Given the description of an element on the screen output the (x, y) to click on. 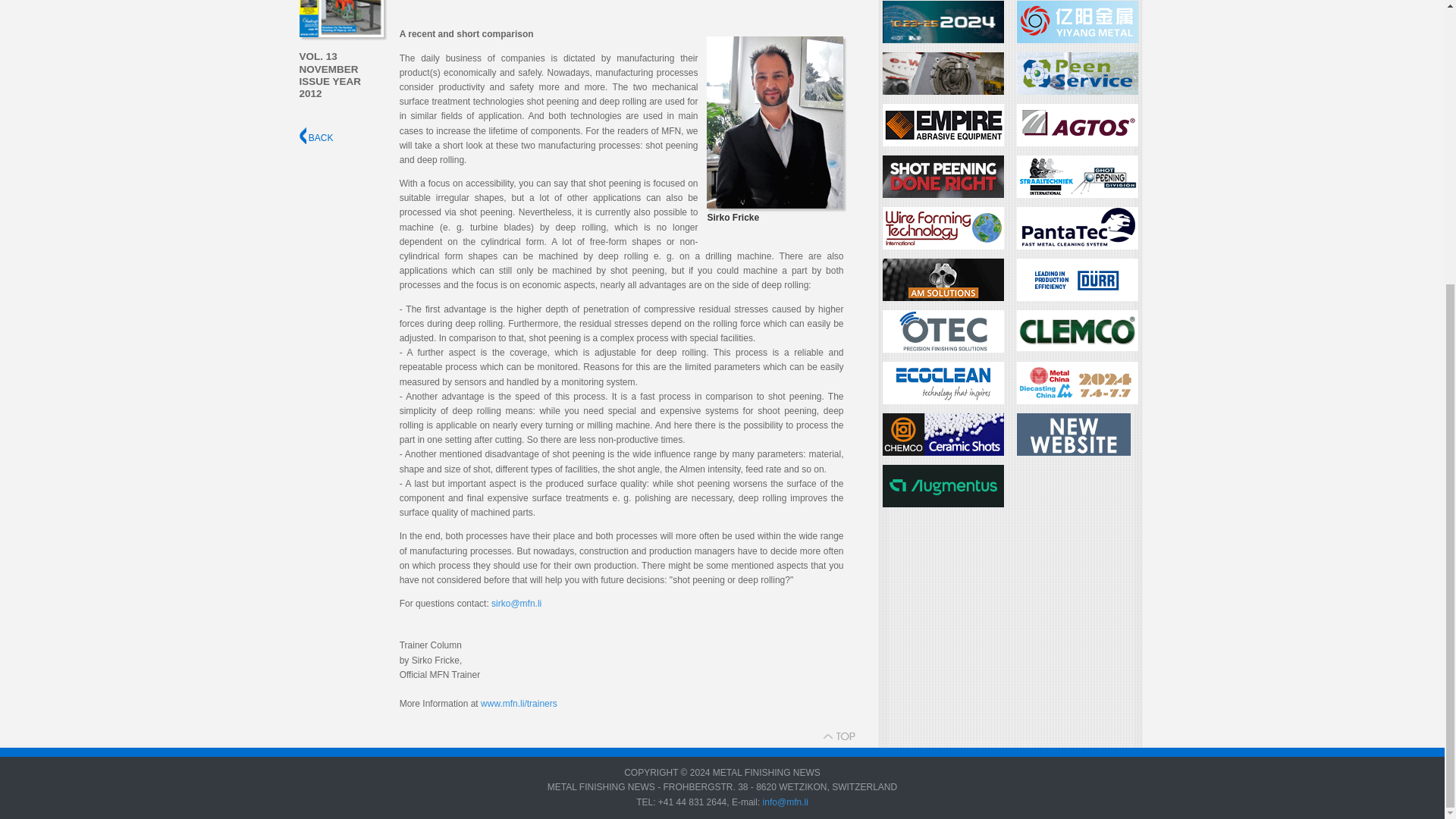
BACK (315, 137)
